Given the description of an element on the screen output the (x, y) to click on. 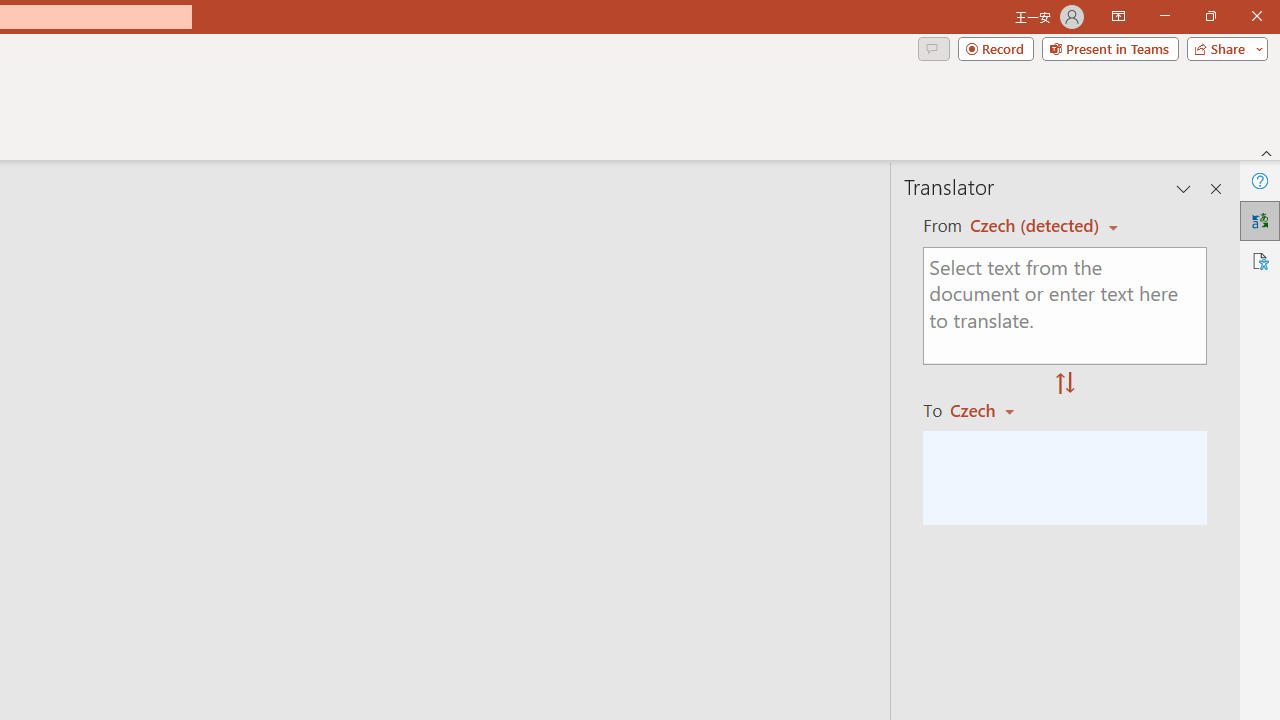
Czech (991, 409)
